Given the description of an element on the screen output the (x, y) to click on. 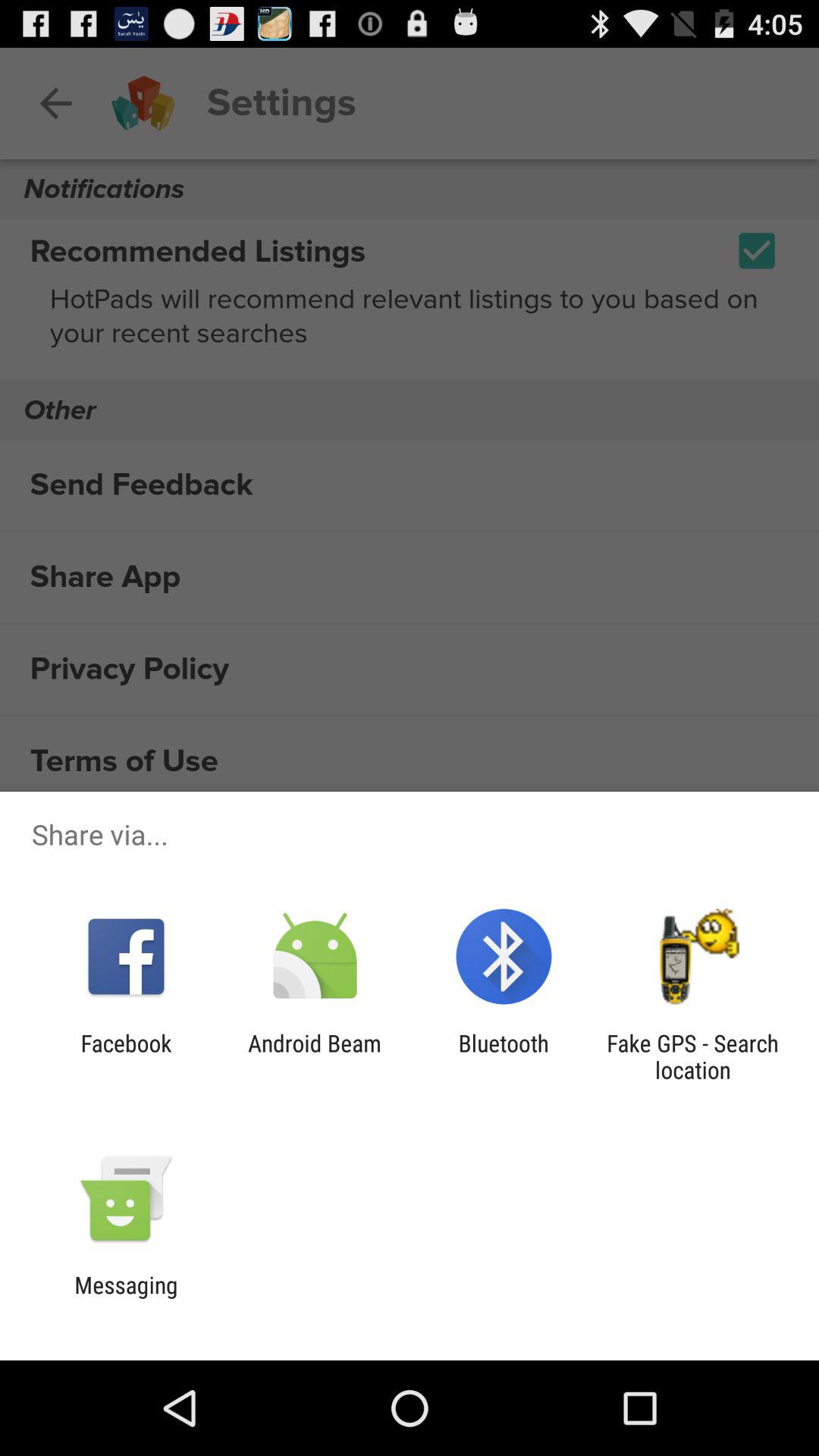
open the messaging (126, 1298)
